Given the description of an element on the screen output the (x, y) to click on. 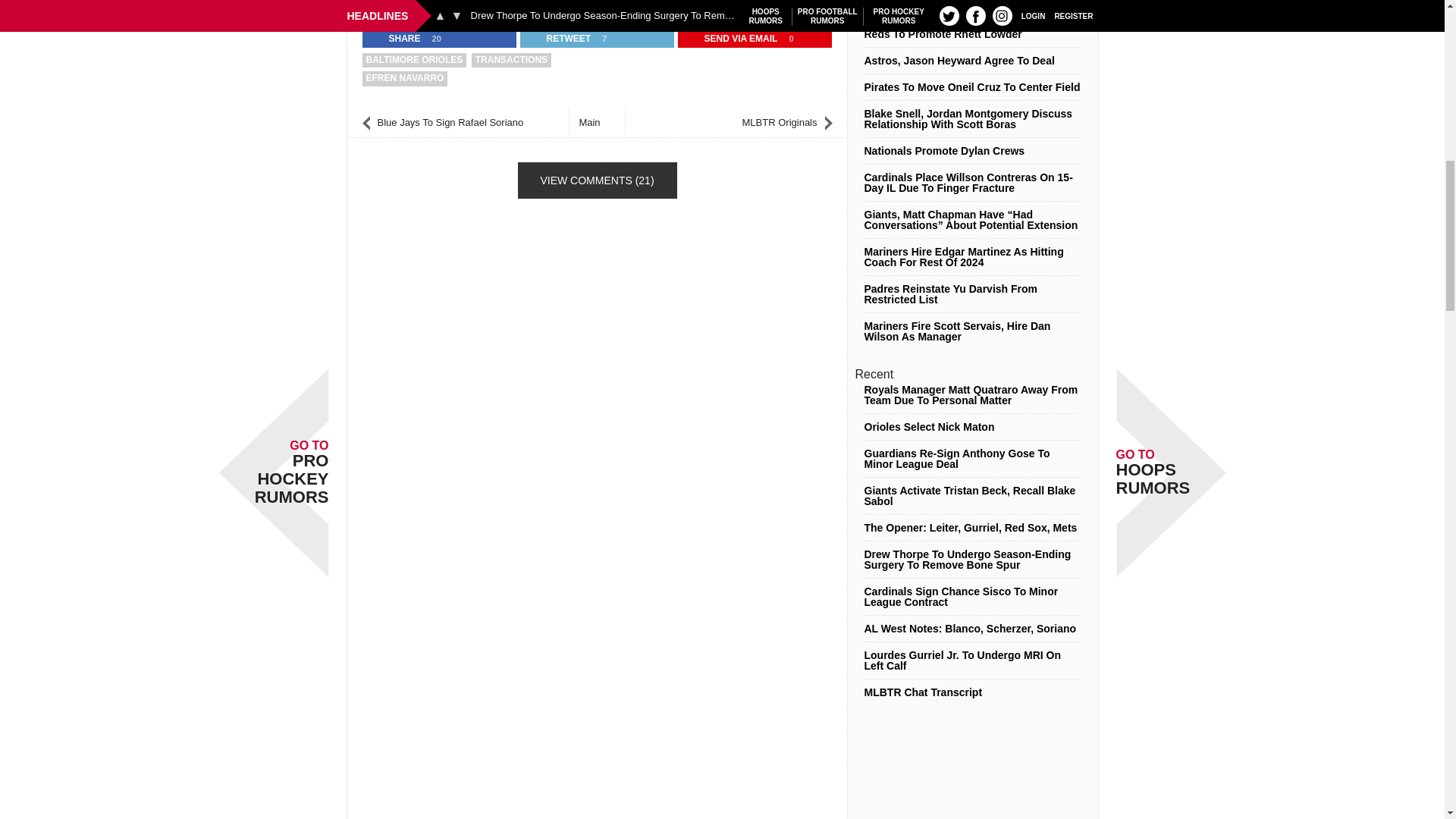
Send Efren Navarro Elects Free Agency with an email (732, 38)
Share 'Efren Navarro Elects Free Agency' on Facebook (395, 38)
Retweet 'Efren Navarro Elects Free Agency' on Twitter (558, 38)
